Given the description of an element on the screen output the (x, y) to click on. 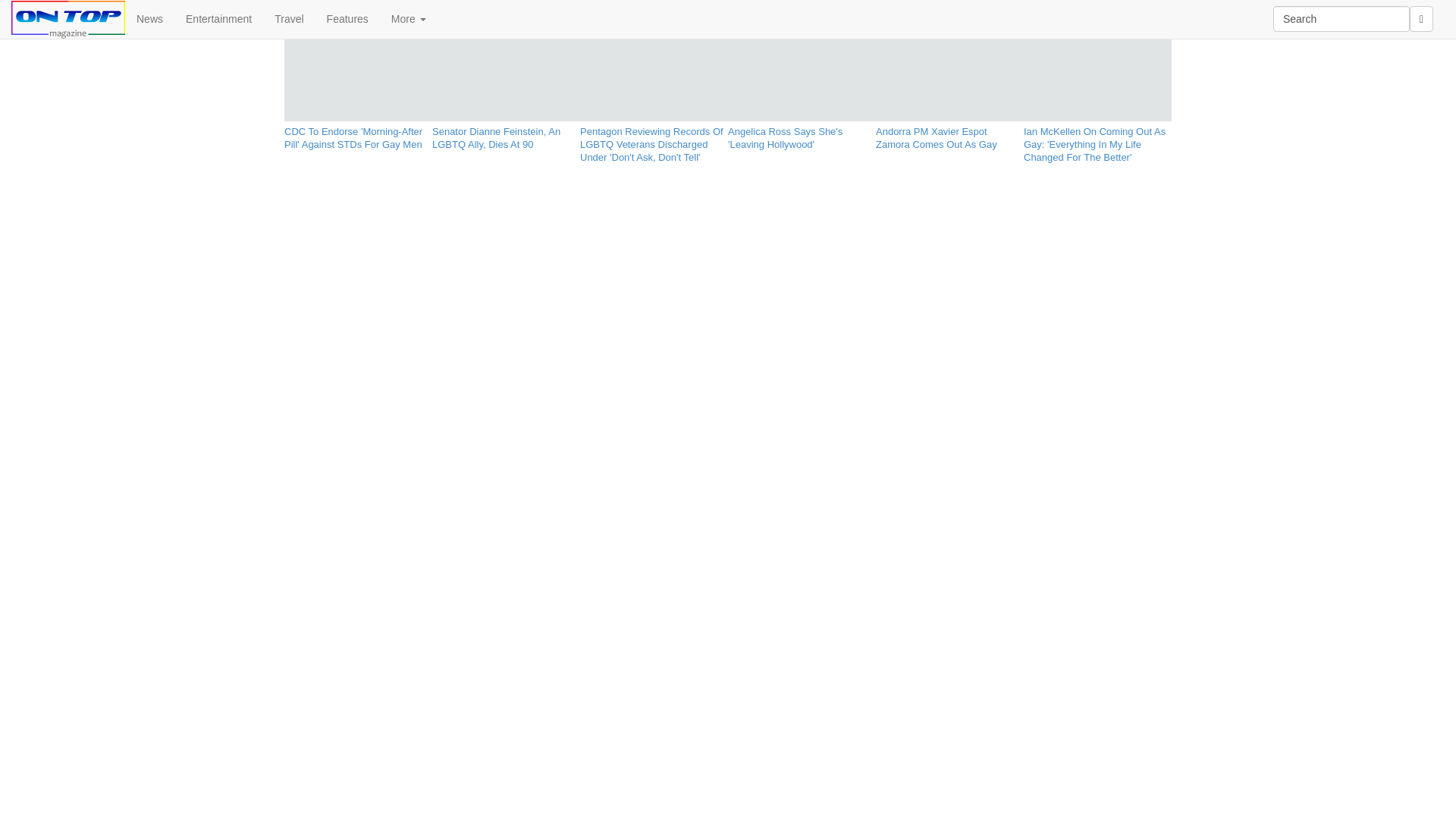
Senator Dianne Feinstein, An LGBTQ Ally, Dies At 90 (505, 135)
News (149, 18)
Travel (288, 18)
Angelica Ross Says She's 'Leaving Hollywood' (802, 135)
Features (347, 18)
Search (1340, 18)
More (409, 18)
CDC To Endorse 'Morning-After Pill' Against STDs For Gay Men (357, 135)
Andorra PM Xavier Espot Zamora Comes Out As Gay (949, 135)
Search by keyword (1340, 18)
Entertainment (218, 18)
